Given the description of an element on the screen output the (x, y) to click on. 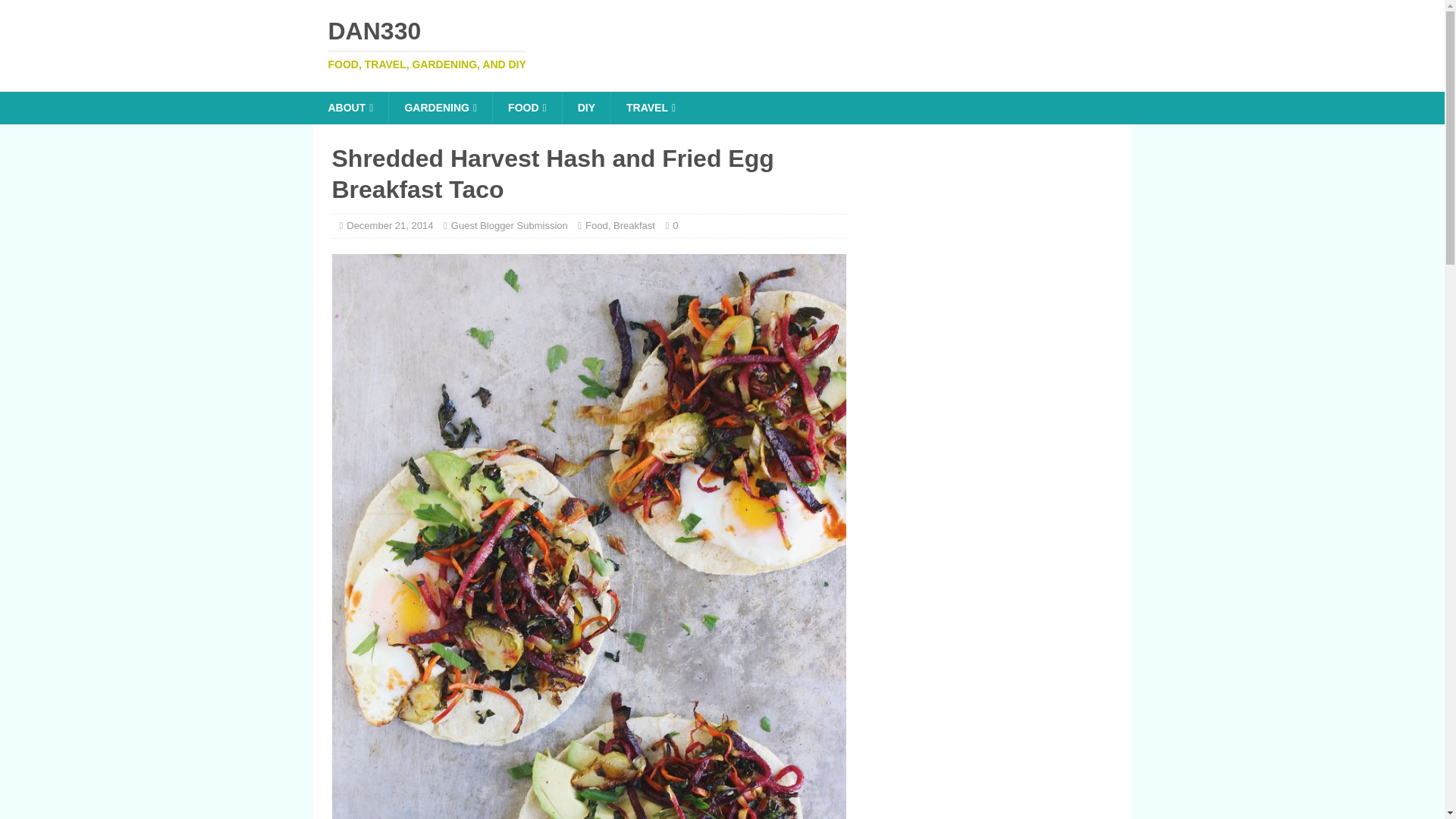
December 21, 2014 (389, 225)
FOOD (721, 44)
Guest Blogger Submission (527, 107)
DIY (509, 225)
Food (586, 107)
breakfast-tacos (596, 225)
GARDENING (633, 225)
Dan330 (440, 107)
ABOUT (721, 44)
TRAVEL (350, 107)
